Given the description of an element on the screen output the (x, y) to click on. 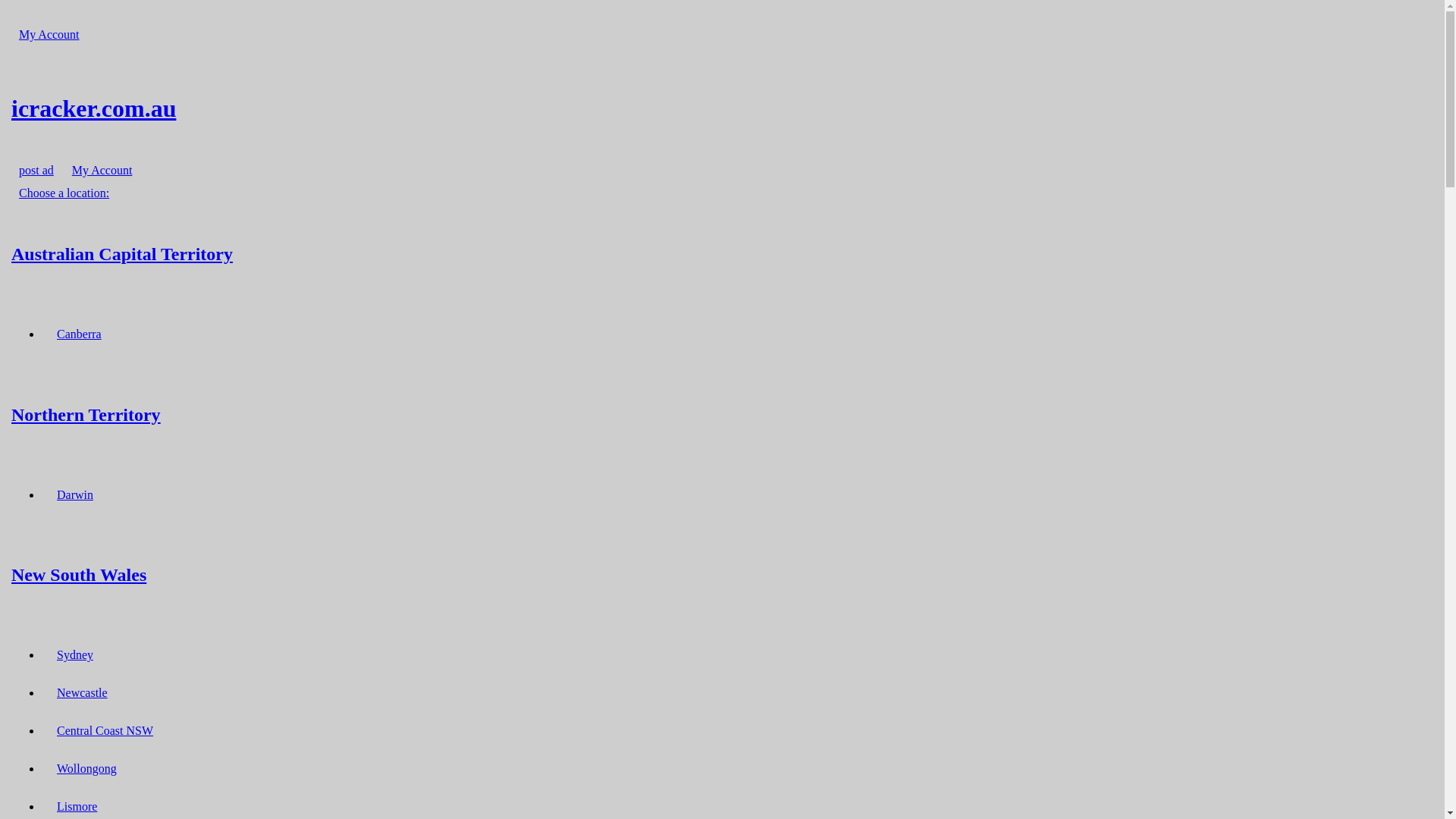
Darwin Element type: text (74, 494)
Choose a location: Element type: text (63, 192)
Sydney Element type: text (74, 654)
Wollongong Element type: text (86, 768)
New South Wales Element type: text (722, 575)
post ad Element type: text (36, 170)
icracker.com.au Element type: text (722, 108)
Australian Capital Territory Element type: text (722, 253)
Central Coast NSW Element type: text (104, 730)
Newcastle Element type: text (82, 692)
Canberra Element type: text (79, 334)
My Account Element type: text (102, 170)
Northern Territory Element type: text (722, 414)
My Account Element type: text (49, 34)
